Given the description of an element on the screen output the (x, y) to click on. 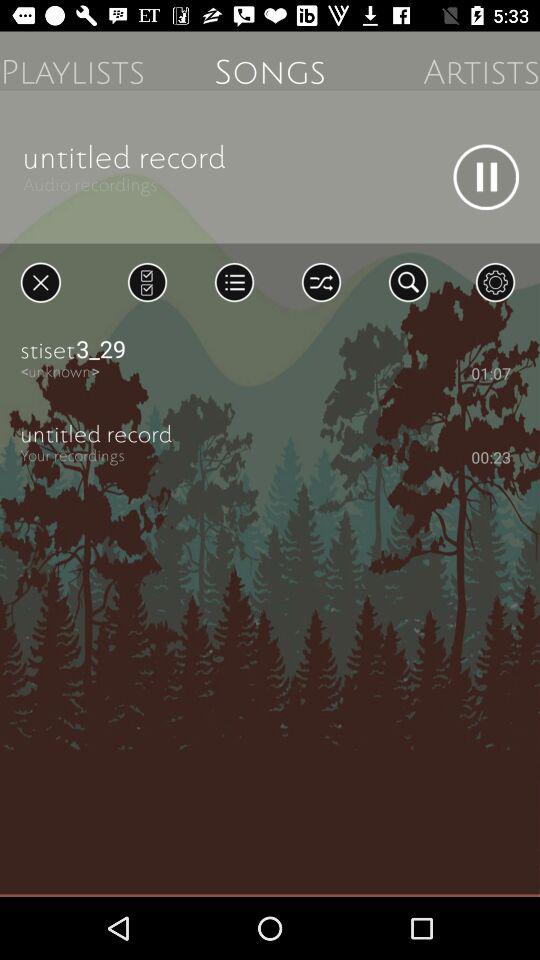
search the name (408, 282)
